Given the description of an element on the screen output the (x, y) to click on. 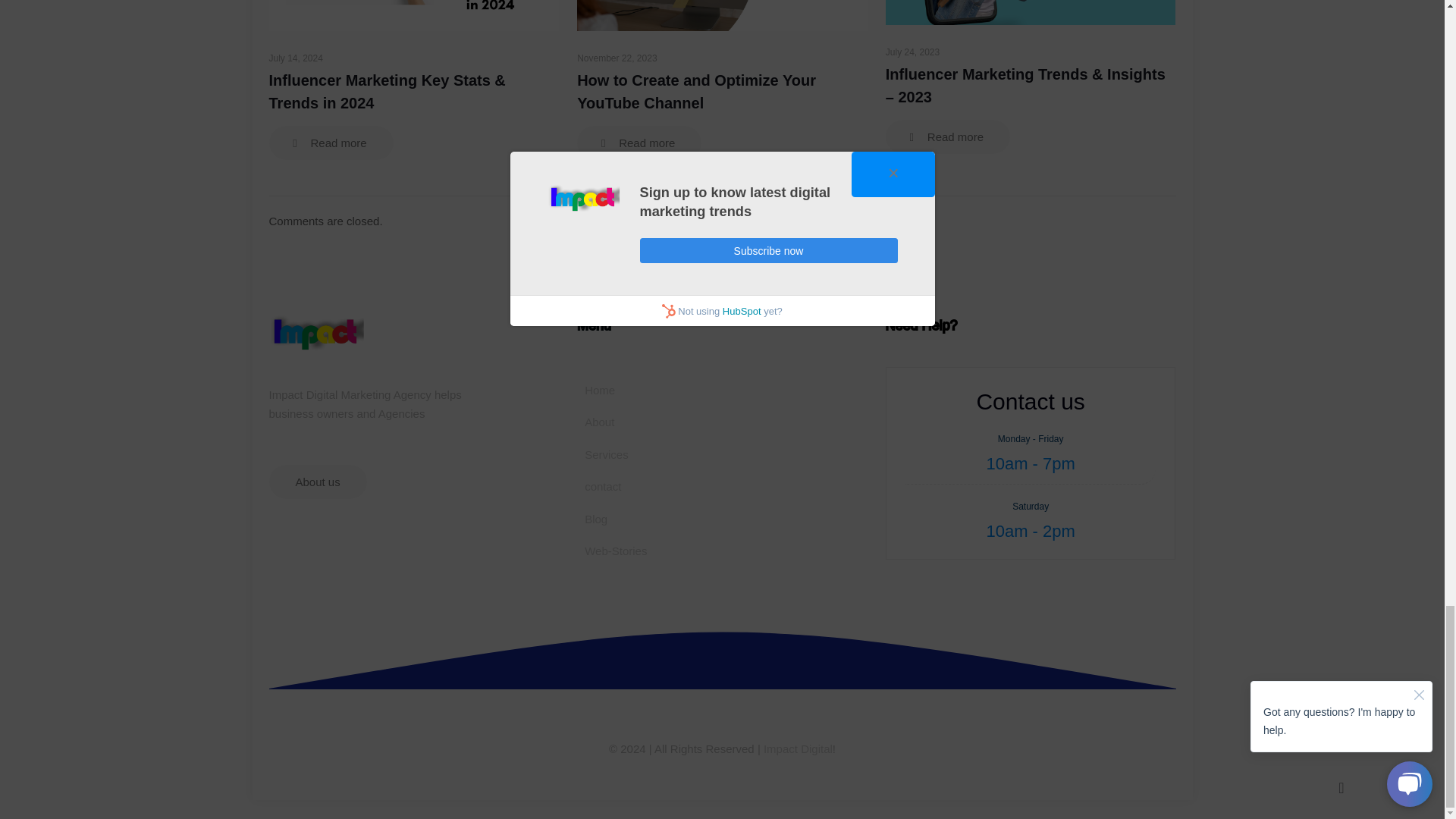
How to Create and Optimize Your YouTube Channel (695, 91)
Read more (947, 136)
Read more (330, 142)
Home (664, 390)
About us (316, 481)
Read more (638, 142)
Services (664, 454)
About (664, 422)
